Given the description of an element on the screen output the (x, y) to click on. 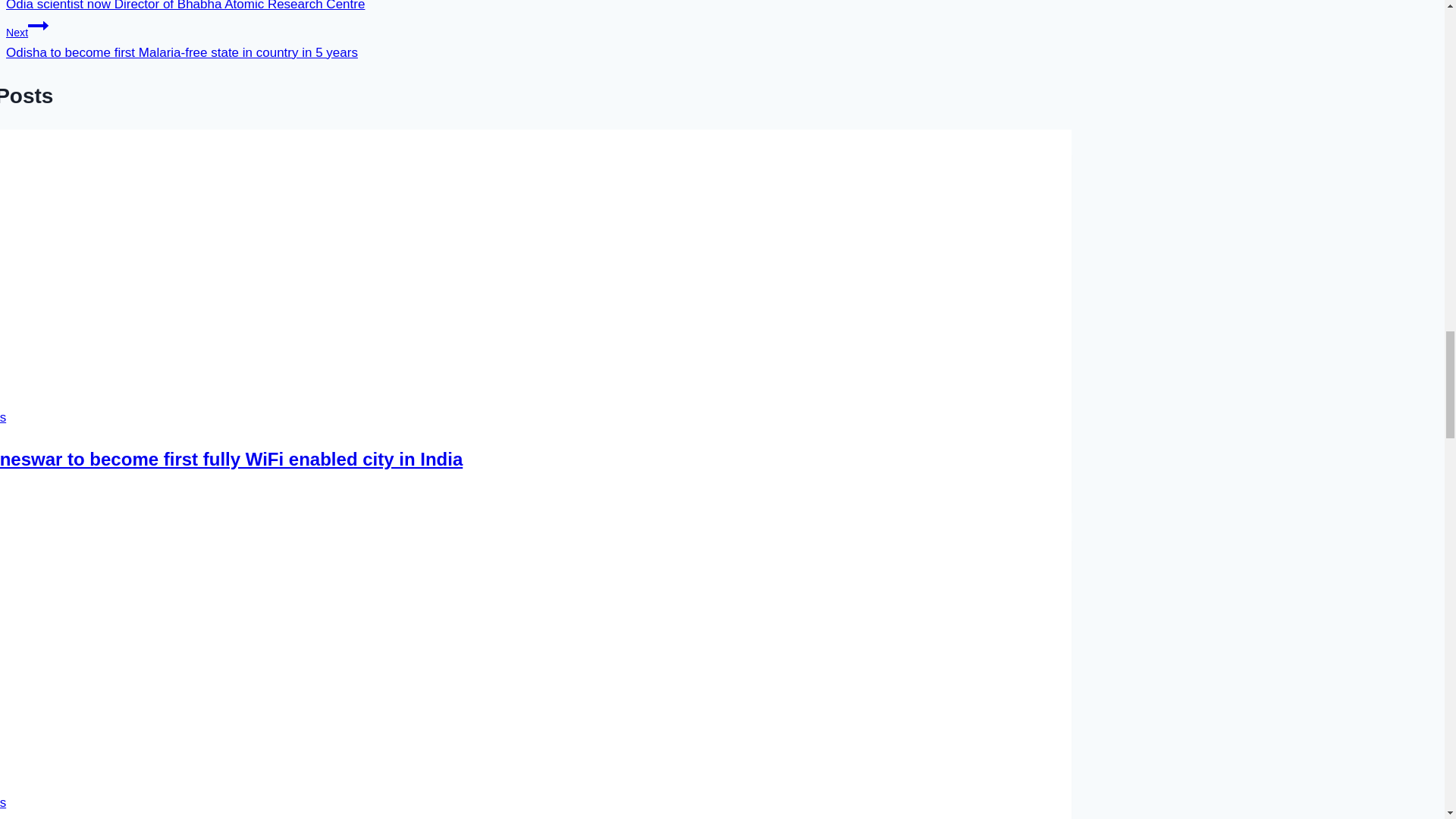
Continue (37, 25)
Bhubaneswar to become first fully WiFi enabled city in India (231, 458)
